Given the description of an element on the screen output the (x, y) to click on. 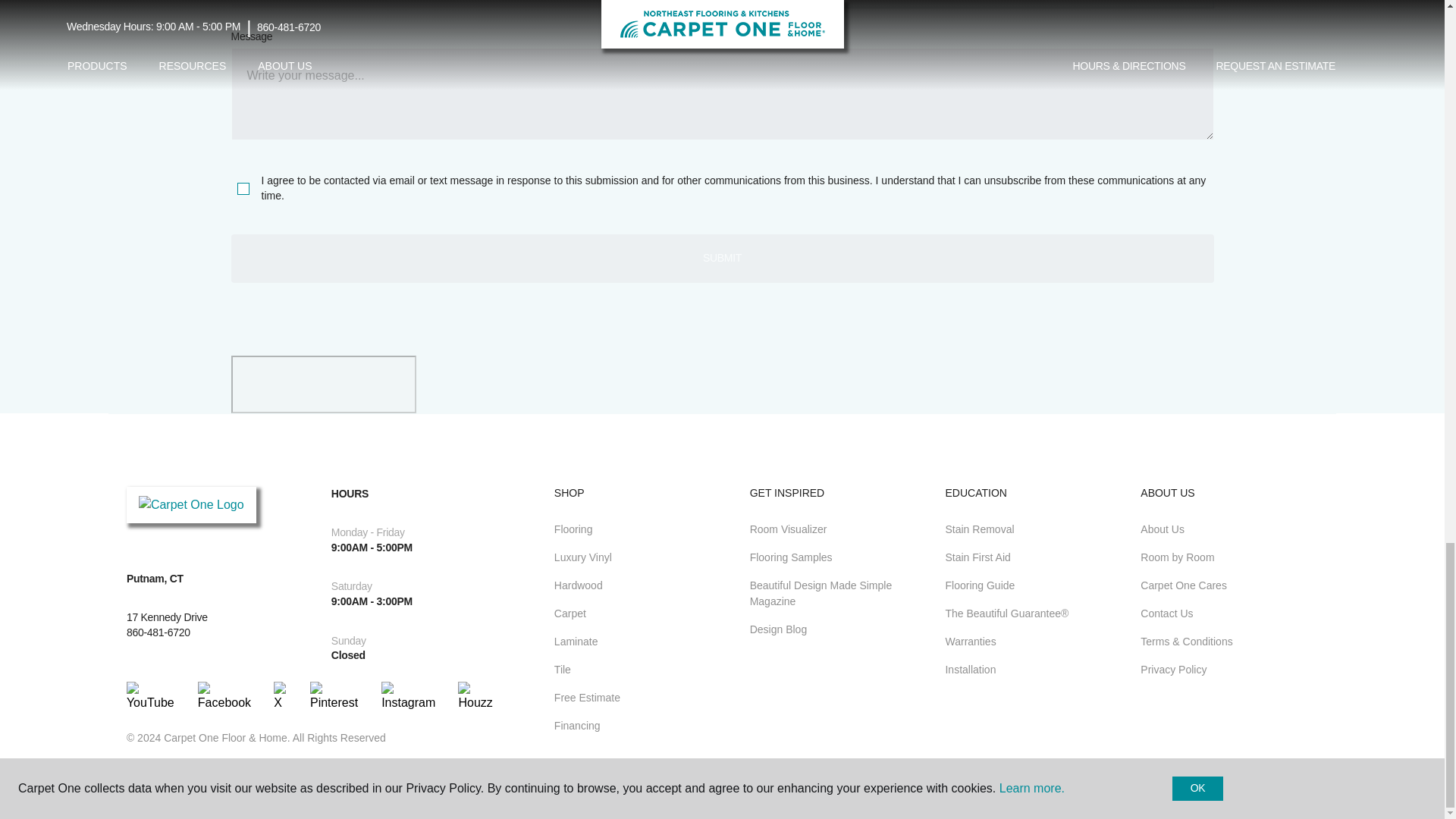
MyMessage (721, 93)
PostalCode (471, 4)
